Given the description of an element on the screen output the (x, y) to click on. 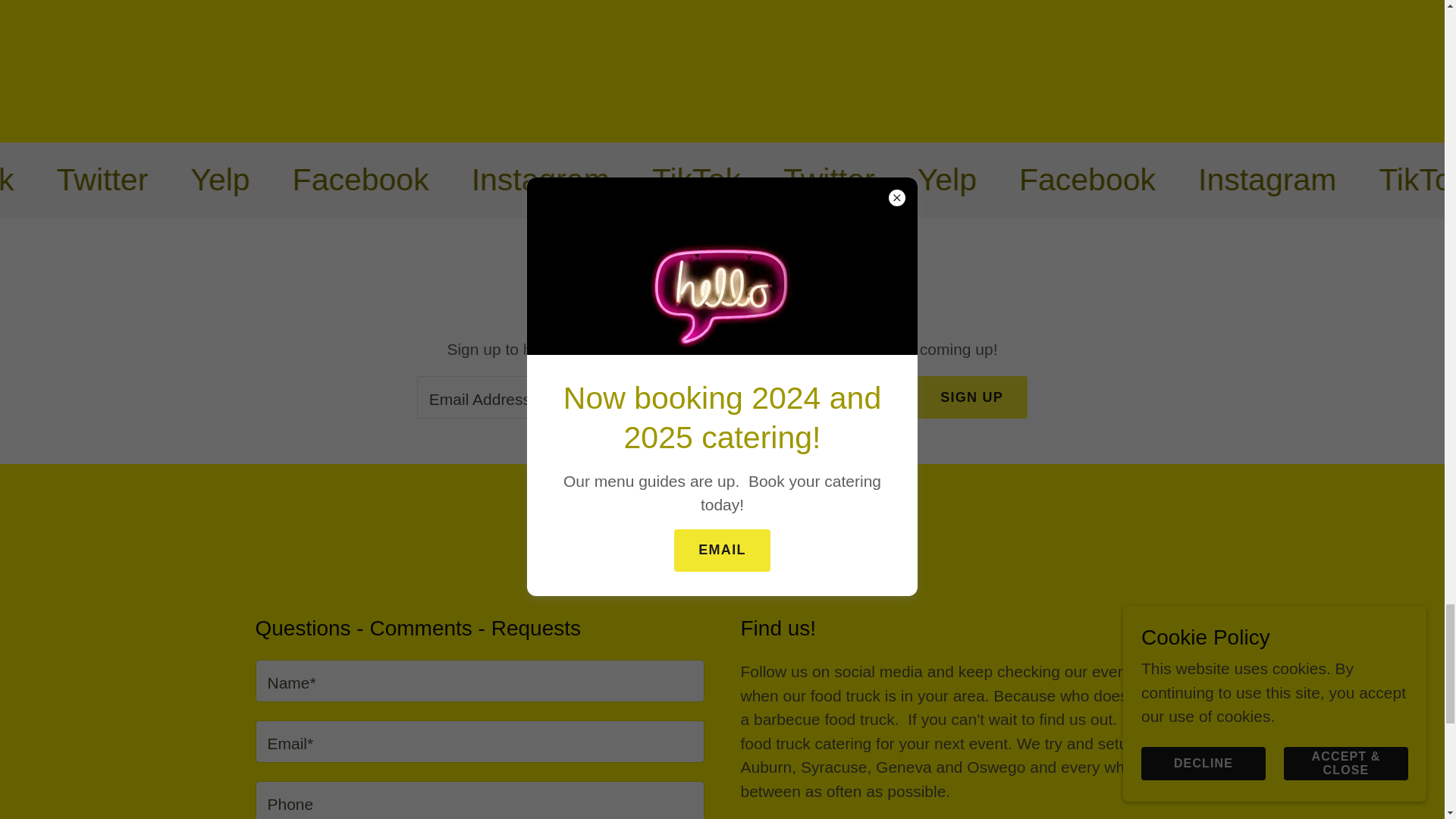
Instagram (935, 179)
Instagram (213, 179)
Yelp (617, 179)
Yelp (1340, 179)
TikTok (367, 179)
TikTok (1090, 179)
Facebook (50, 179)
Twitter (1223, 179)
Twitter (500, 179)
Facebook (756, 179)
